Given the description of an element on the screen output the (x, y) to click on. 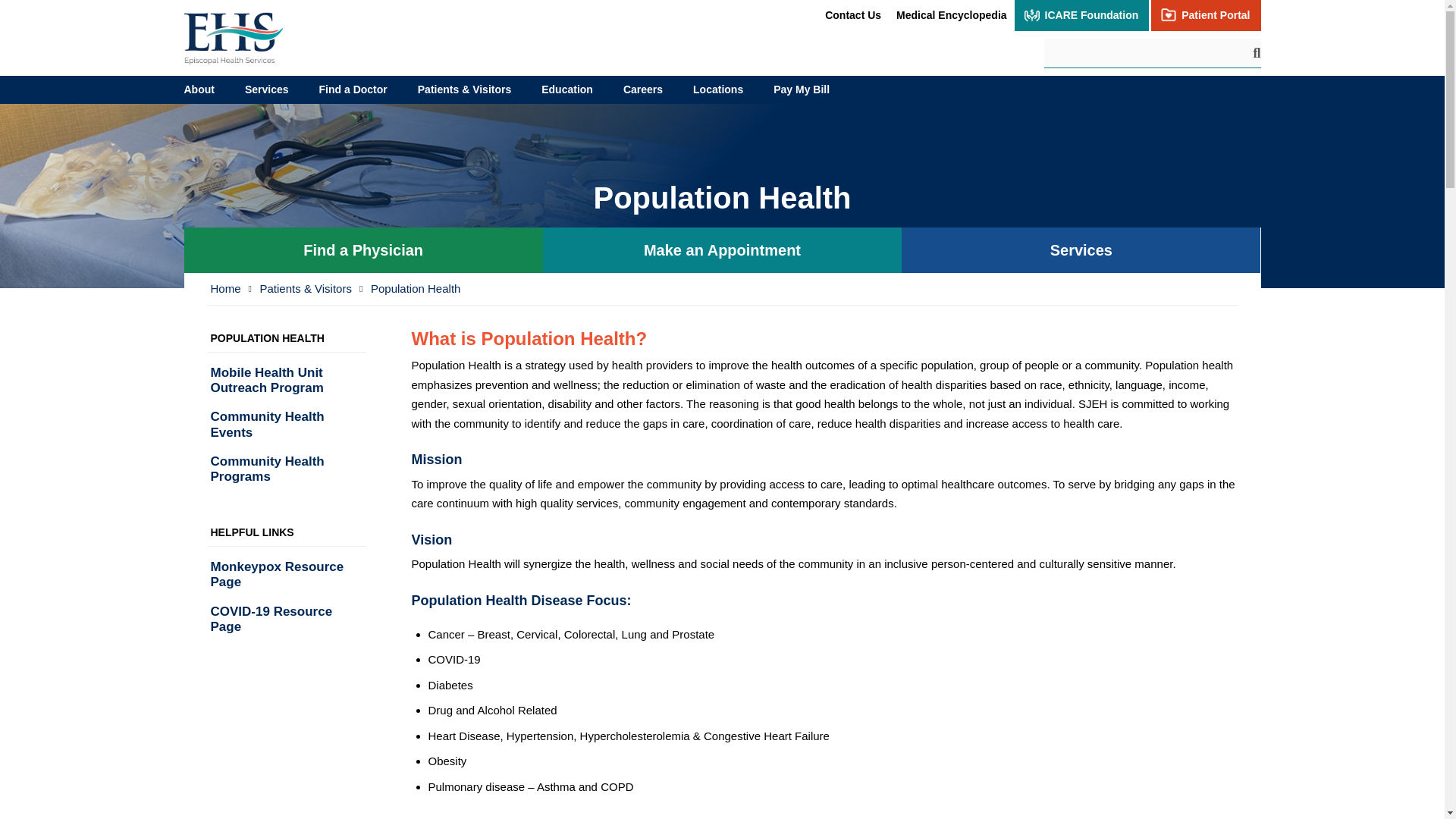
Patient Portal (1205, 15)
ICARE Foundation (1082, 15)
Population Health (415, 289)
Education (566, 90)
Locations (718, 90)
Community Health Events (285, 424)
Find a Doctor (353, 90)
Contact Us (852, 15)
Make an Appointment (722, 249)
Monkeypox Resource Page (285, 574)
About (198, 90)
Services (1080, 249)
Community Health Programs (285, 469)
Pay My Bill (801, 90)
Medical Encyclopedia (951, 15)
